Given the description of an element on the screen output the (x, y) to click on. 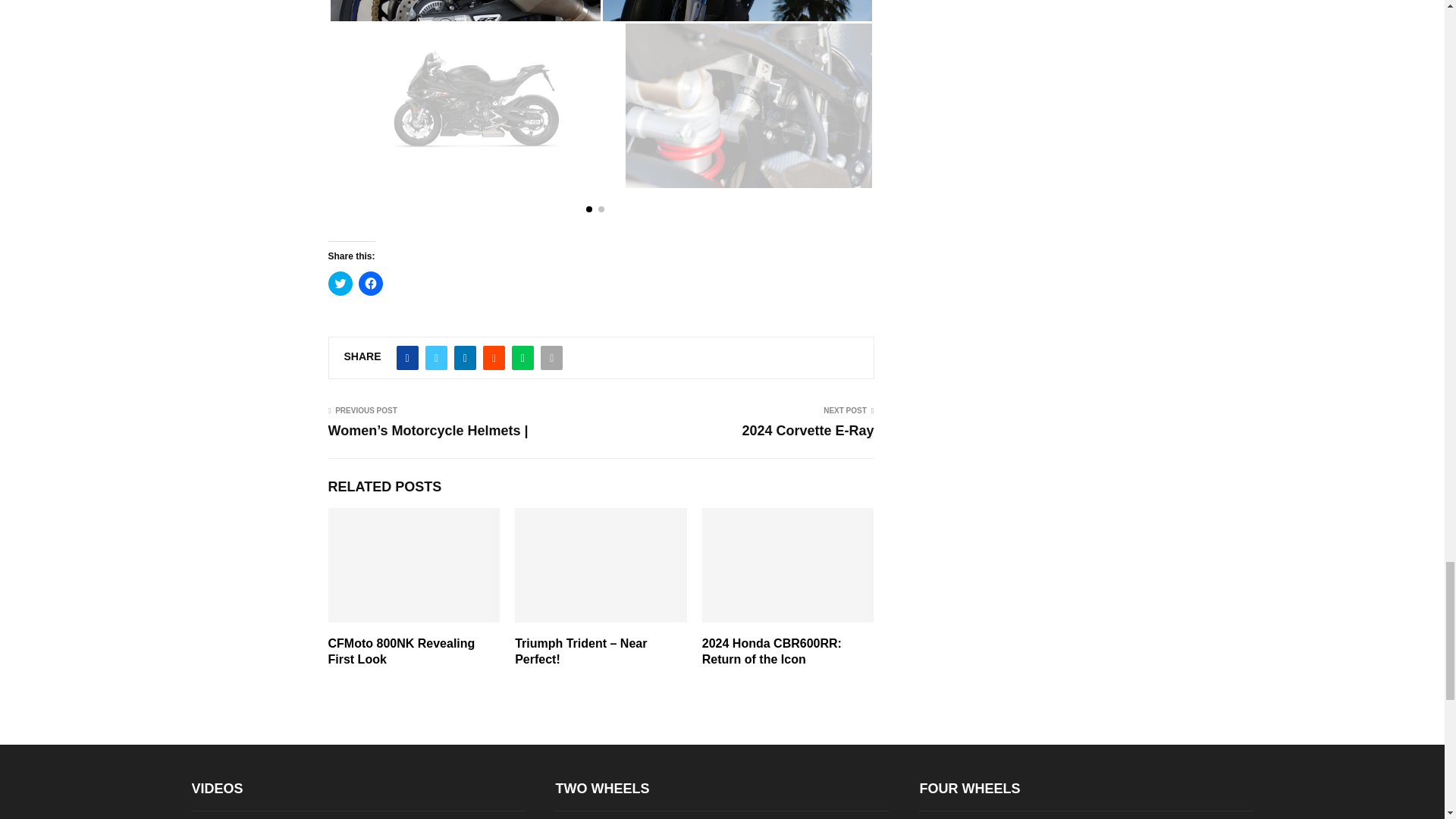
2024 Corvette E-Ray (807, 430)
Click to share on Twitter (339, 283)
Click to share on Facebook (369, 283)
